Given the description of an element on the screen output the (x, y) to click on. 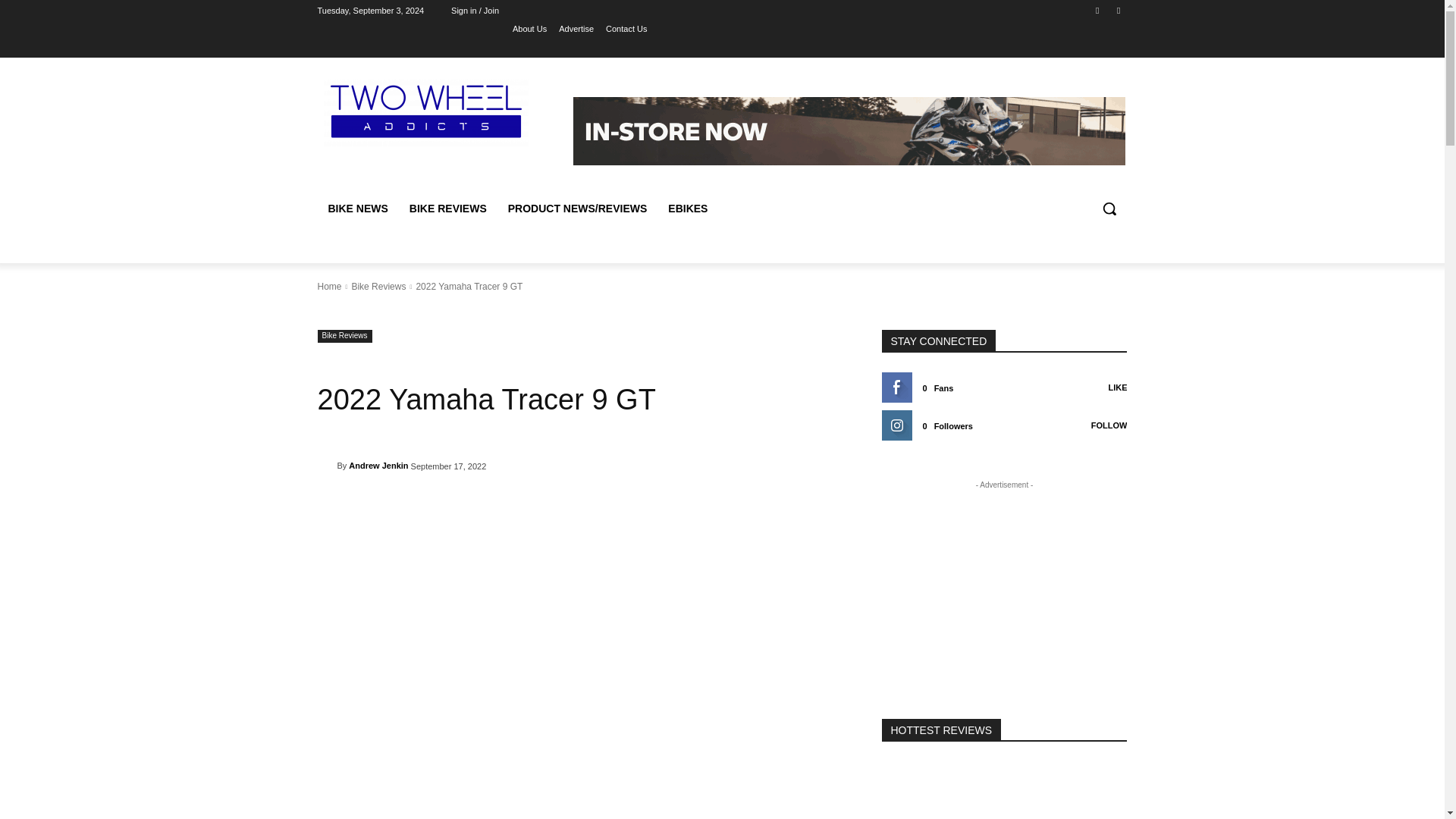
Andrew Jenkin (378, 465)
Instagram (1117, 9)
Facebook (1097, 9)
EBIKES (687, 208)
About Us (529, 28)
Home (328, 286)
Bike Reviews (378, 286)
Bike Reviews (344, 336)
BIKE NEWS (357, 208)
View all posts in Bike Reviews (378, 286)
